Given the description of an element on the screen output the (x, y) to click on. 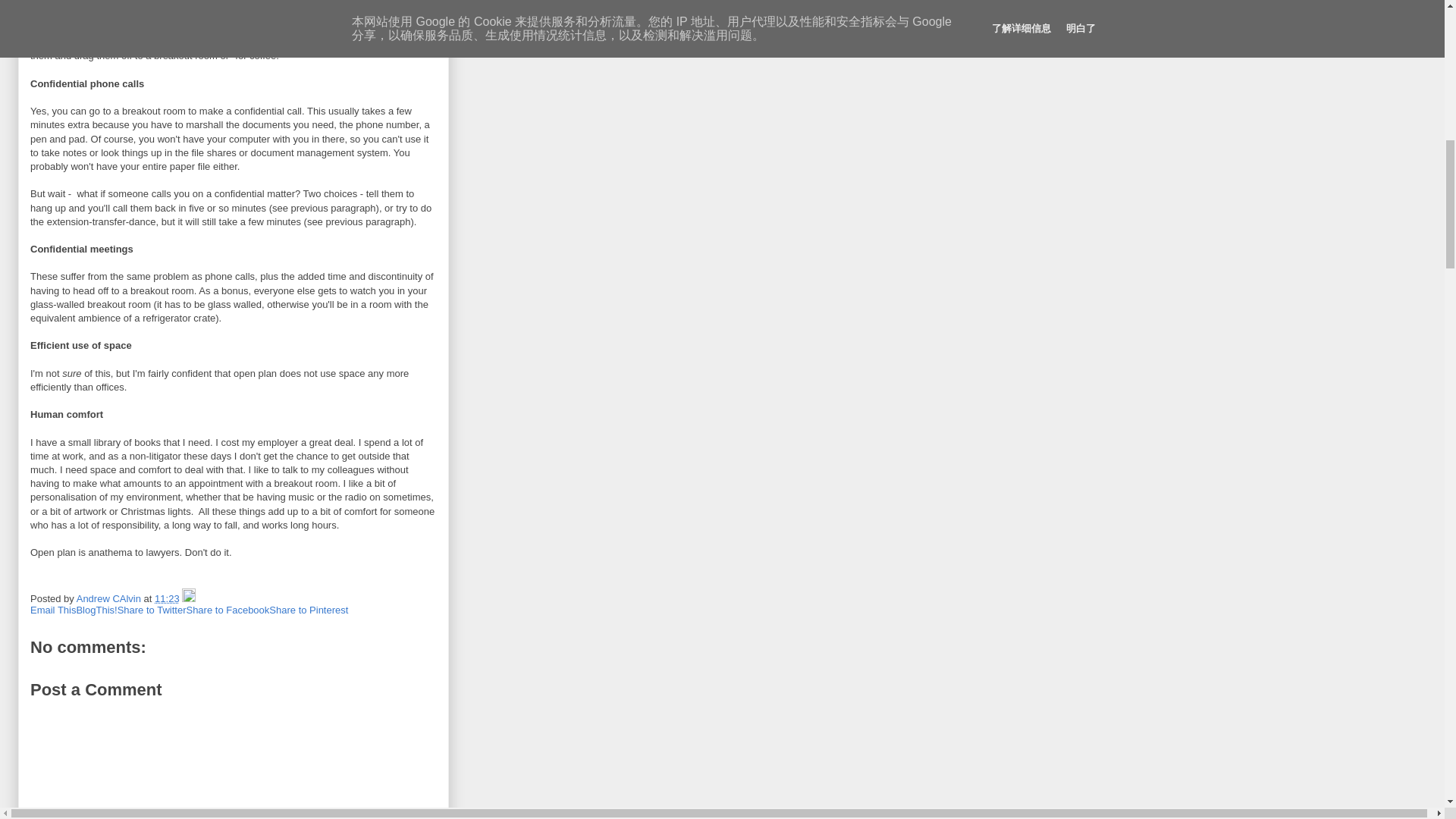
Share to Facebook (227, 609)
BlogThis! (95, 609)
author profile (110, 598)
permanent link (166, 598)
BlogThis! (95, 609)
Email This (52, 609)
Share to Twitter (151, 609)
Email This (52, 609)
Share to Facebook (227, 609)
Share to Twitter (151, 609)
Andrew CAlvin (110, 598)
Edit Post (188, 598)
Share to Pinterest (308, 609)
Share to Pinterest (308, 609)
11:23 (166, 598)
